Given the description of an element on the screen output the (x, y) to click on. 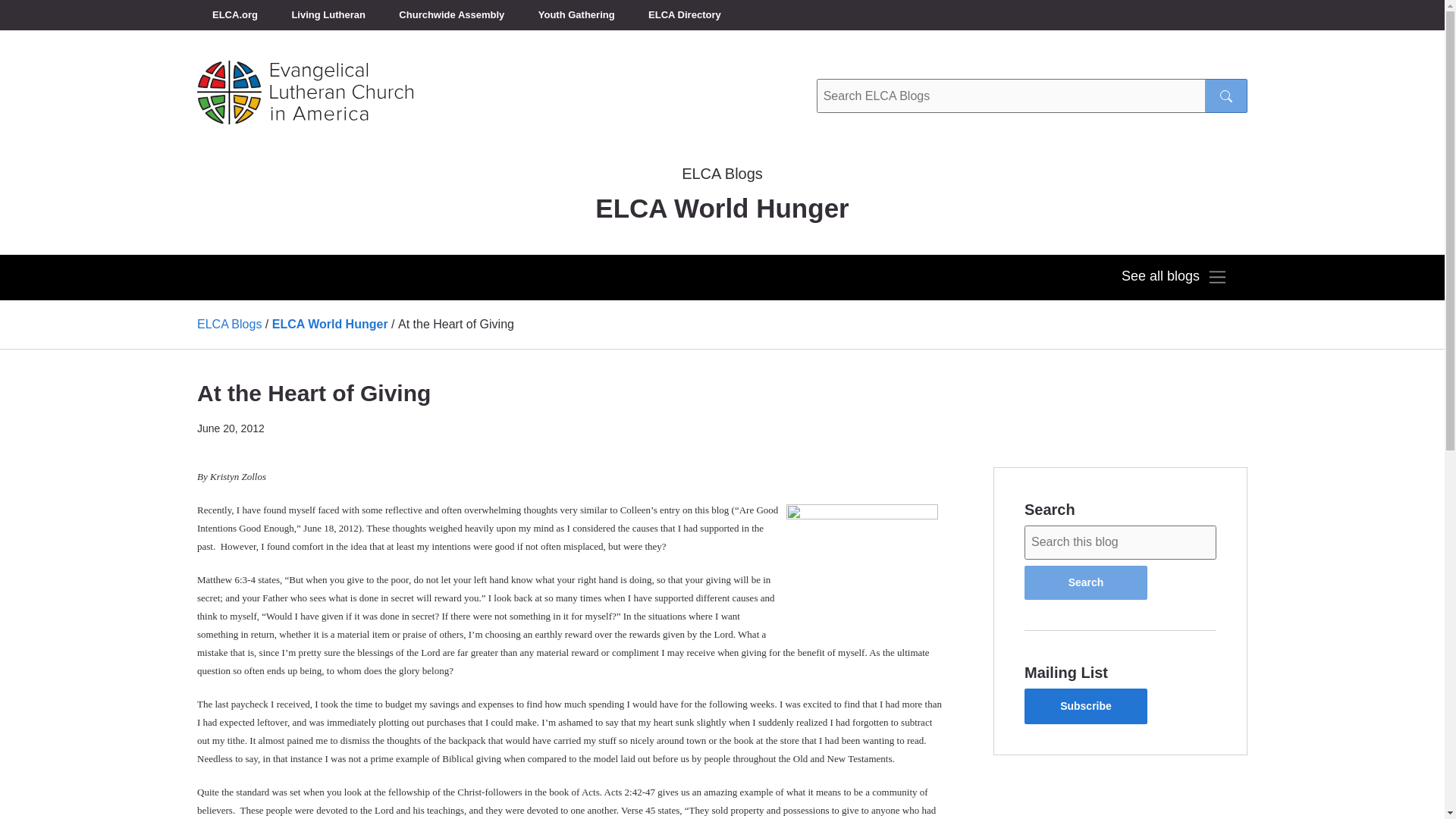
Search submit (1226, 95)
Living Lutheran (328, 15)
ELCA World Hunger (330, 323)
ELCA Directory (684, 15)
ELCA Blogs (229, 323)
Youth Gathering (576, 15)
See all blogs (1174, 277)
Subscribe (1086, 705)
Search (1086, 582)
Search (1086, 582)
